Given the description of an element on the screen output the (x, y) to click on. 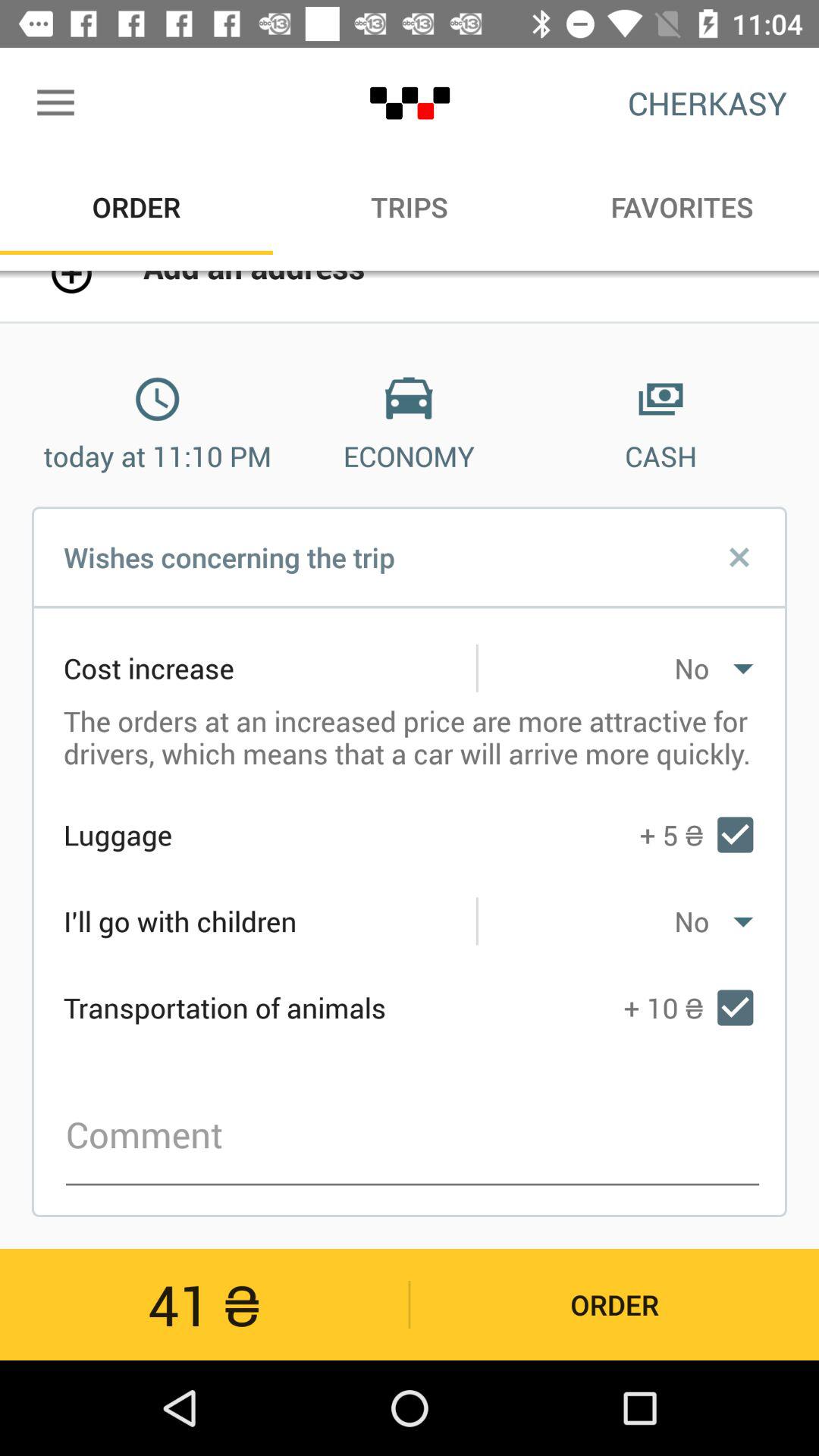
turn on the icon above the favorites item (707, 102)
